Given the description of an element on the screen output the (x, y) to click on. 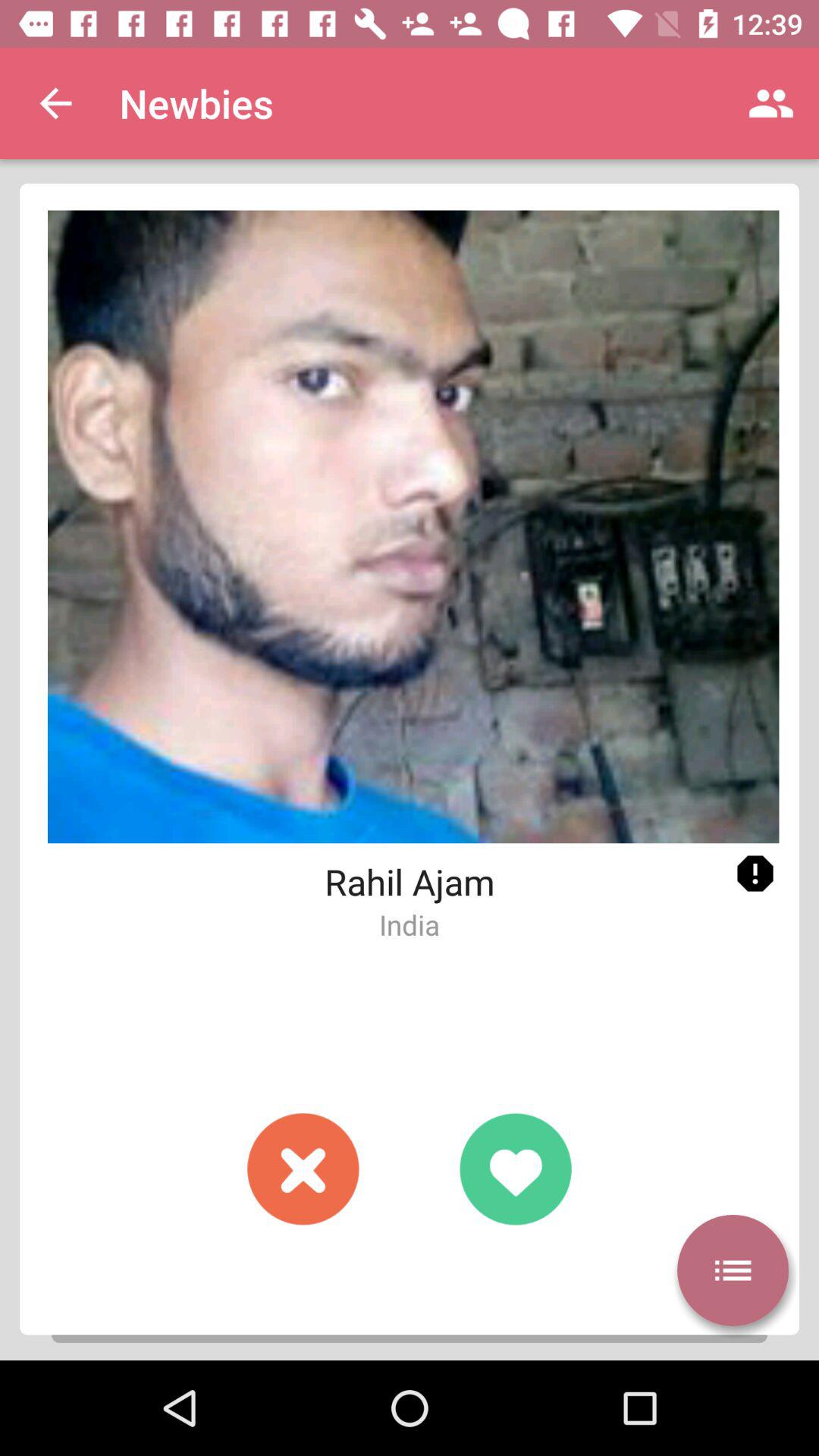
delete (303, 1169)
